Given the description of an element on the screen output the (x, y) to click on. 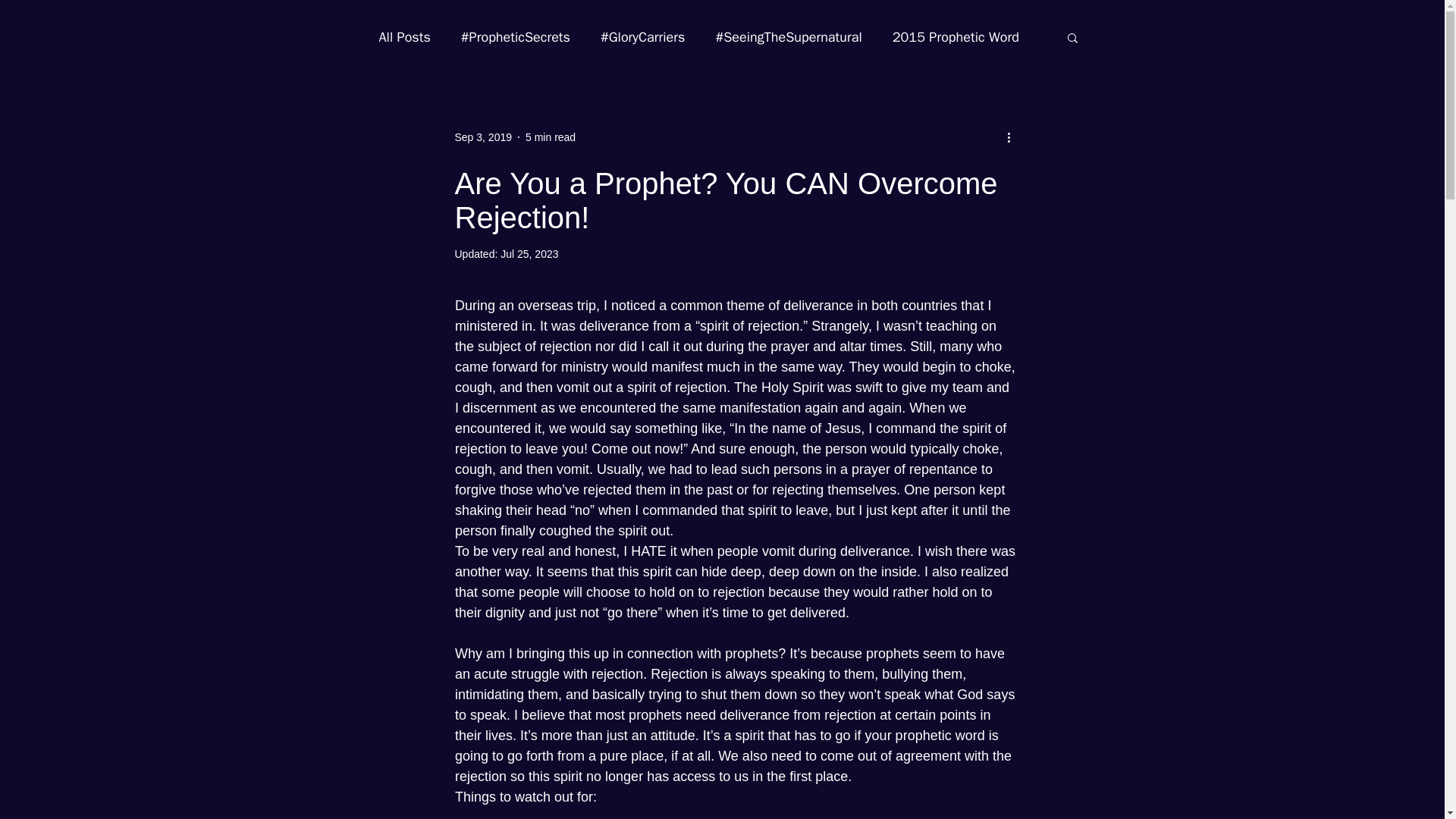
Jul 25, 2023 (528, 254)
5 min read (550, 136)
2015 Prophetic Word (955, 36)
Sep 3, 2019 (483, 136)
All Posts (404, 36)
